Given the description of an element on the screen output the (x, y) to click on. 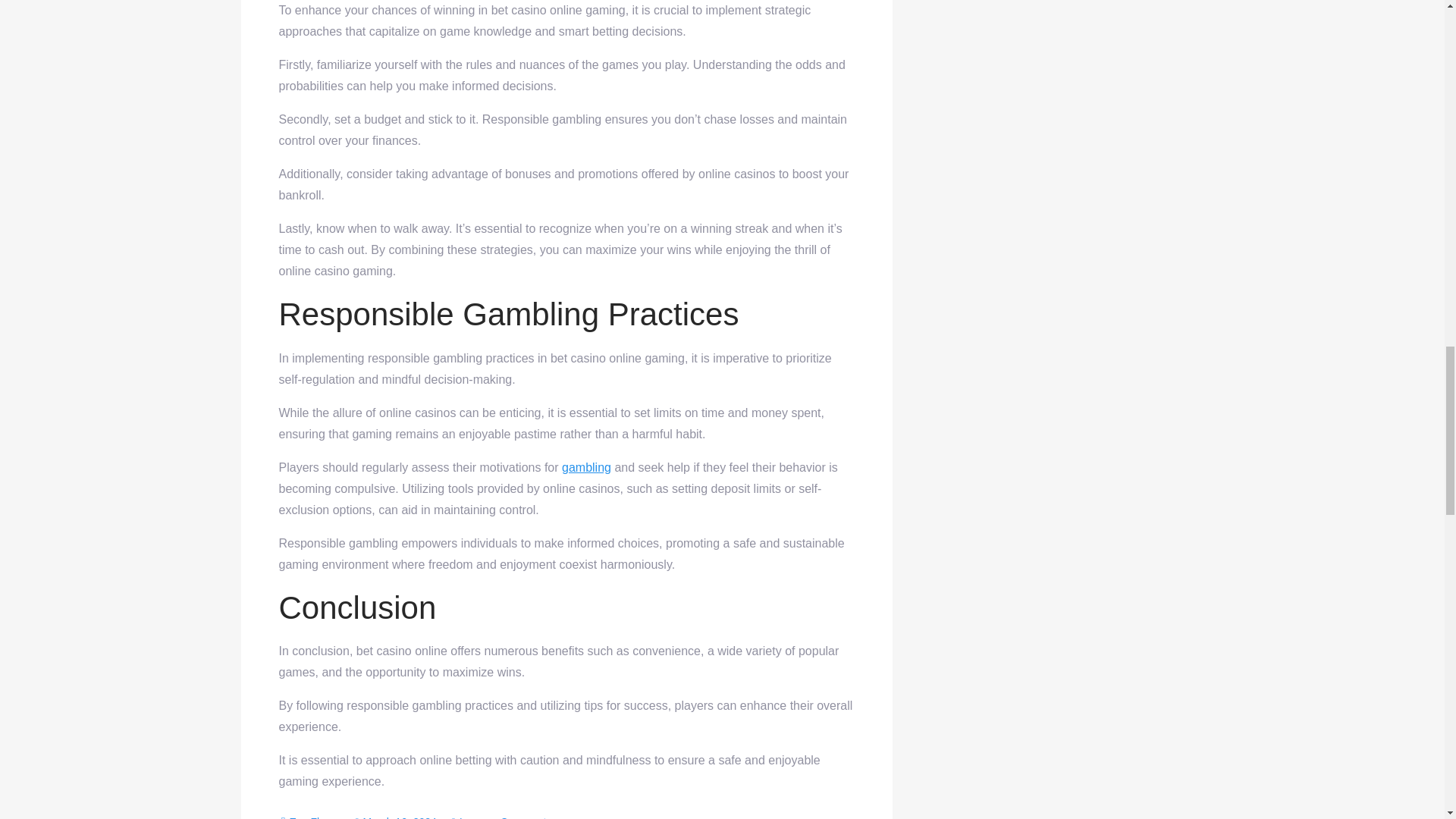
Eva Flores (313, 817)
March 16, 2024 (499, 817)
gambling (395, 817)
